Given the description of an element on the screen output the (x, y) to click on. 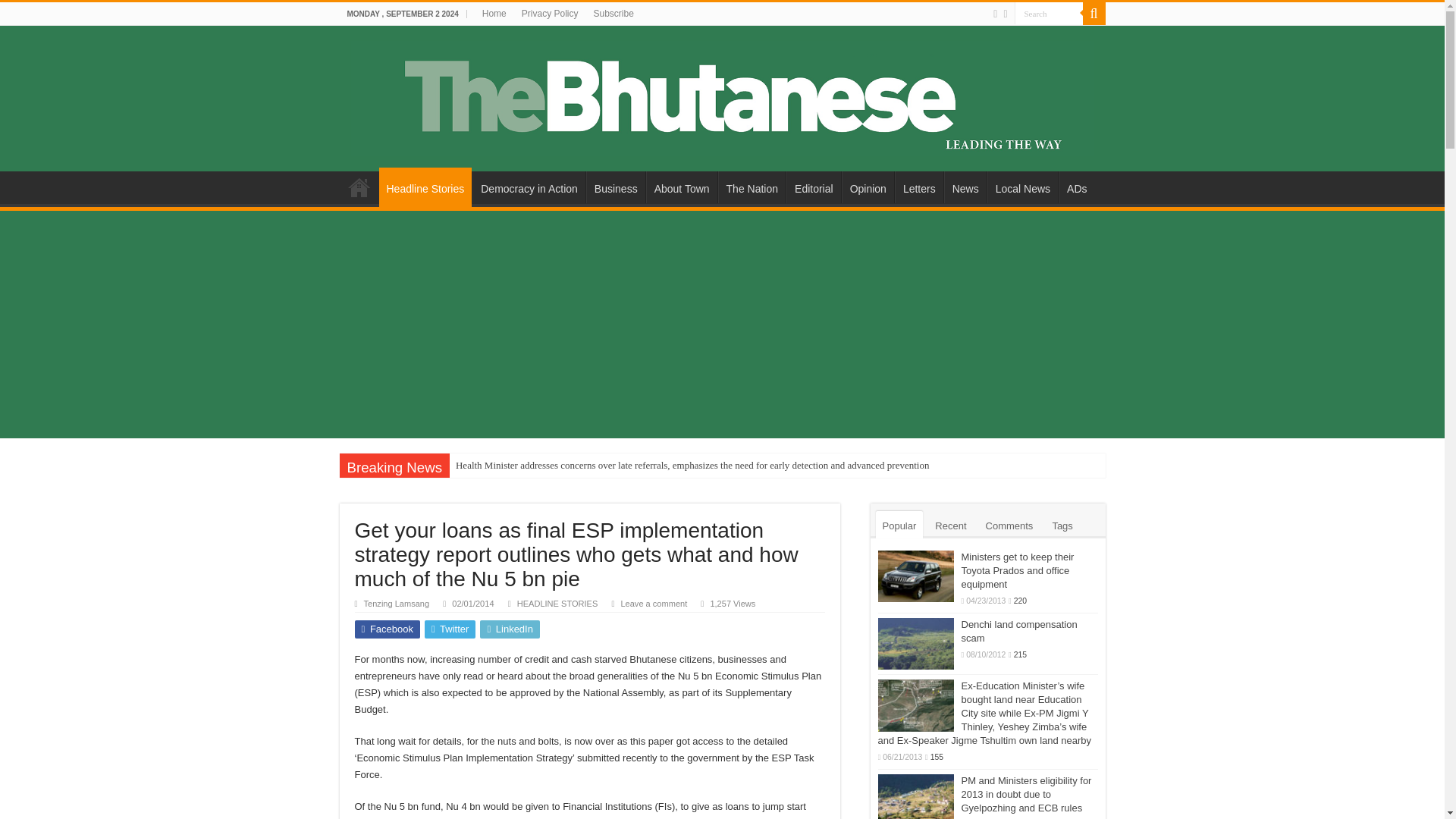
Search (1094, 13)
Privacy Policy (549, 13)
Local News (1022, 187)
Democracy in Action (528, 187)
HOME (358, 187)
Search (1048, 13)
Headline Stories (424, 187)
Subscribe (612, 13)
